Given the description of an element on the screen output the (x, y) to click on. 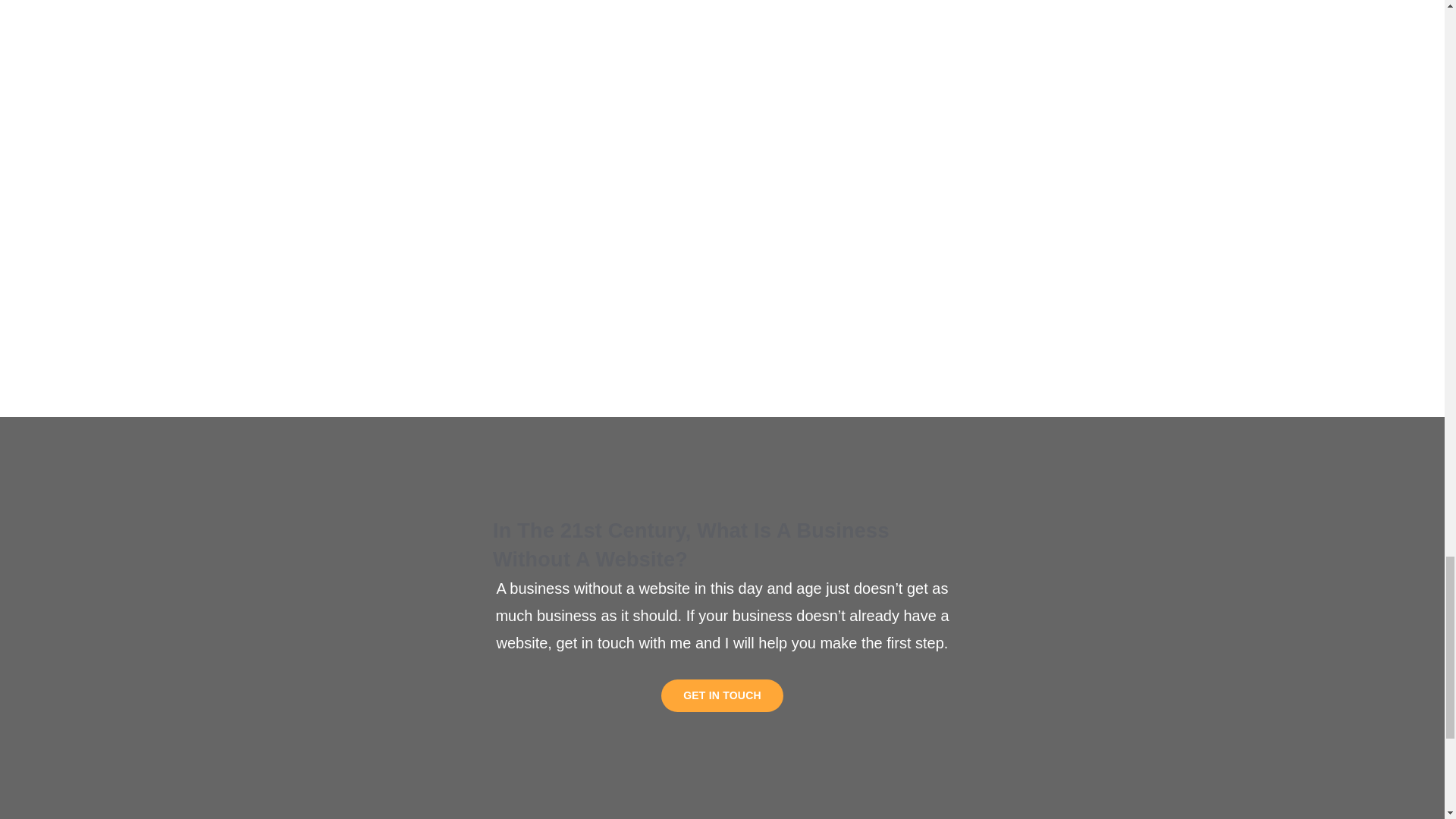
GET IN TOUCH (722, 695)
